Given the description of an element on the screen output the (x, y) to click on. 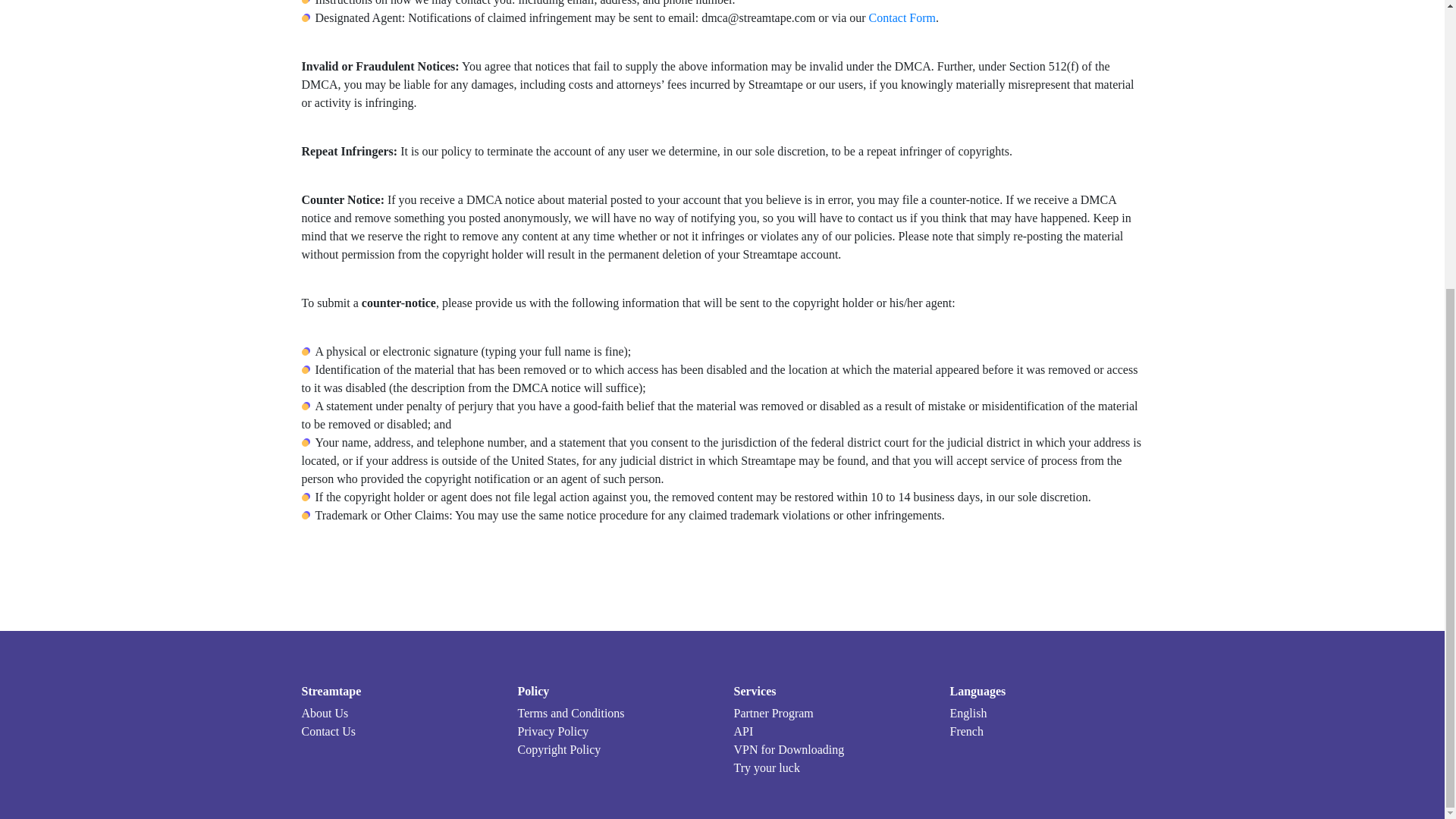
Terms and Conditions (613, 713)
Try your luck (830, 768)
French (1045, 731)
Privacy Policy (613, 731)
API (830, 731)
Partner Program (830, 713)
About Us (398, 713)
English (1045, 713)
Copyright Policy (613, 750)
Contact Us (398, 731)
VPN for Downloading (830, 750)
